Given the description of an element on the screen output the (x, y) to click on. 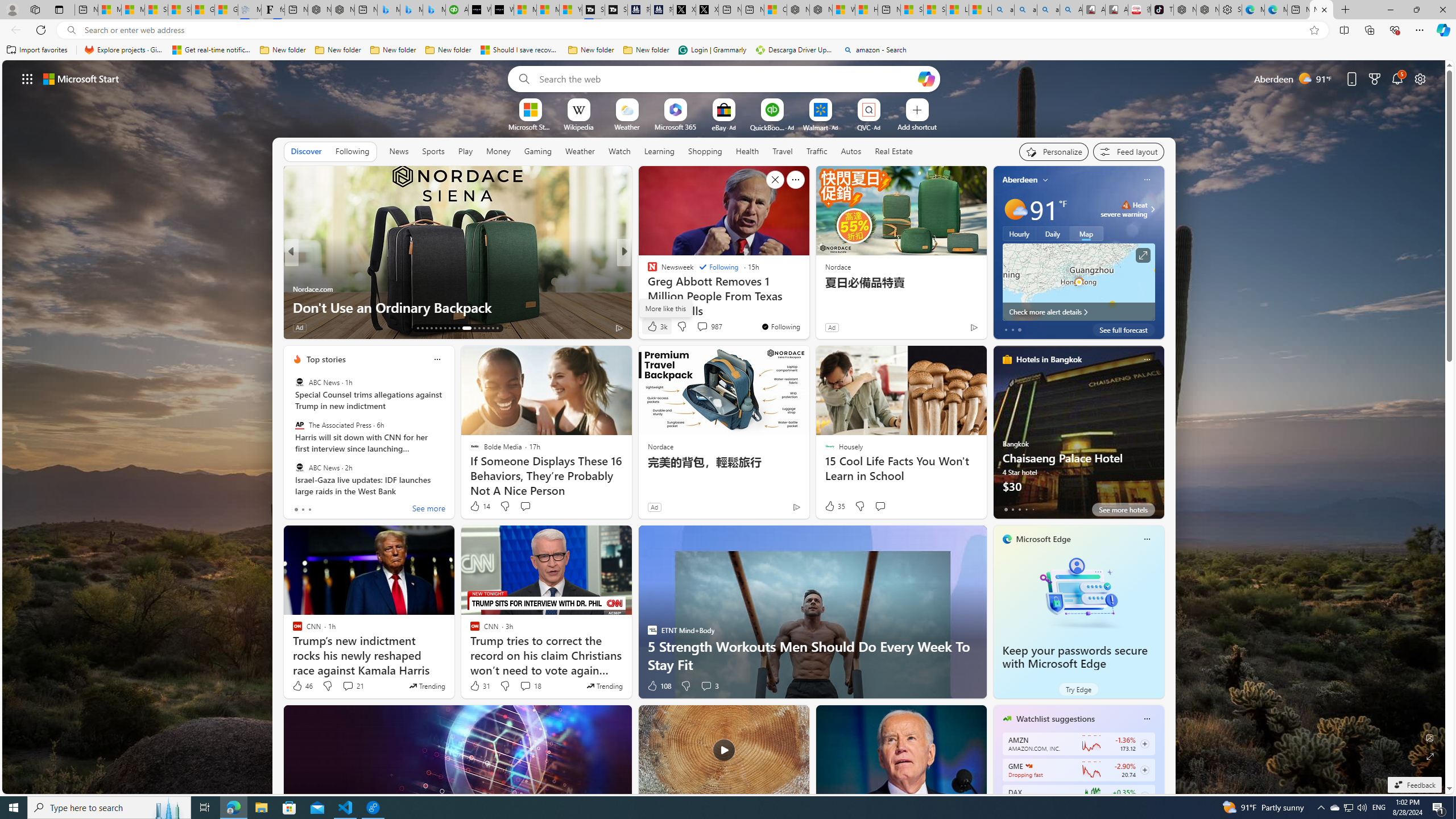
241 Like (654, 327)
See more hotels (1123, 509)
TikTok (1161, 9)
Microsoft Edge (1043, 538)
108 Like (658, 685)
Search icon (70, 29)
View comments 18 Comment (530, 685)
Amazon Echo Robot - Search Images (1071, 9)
Check more alert details (1077, 311)
14 Like (479, 505)
View comments 17 Comment (703, 327)
AutomationID: backgroundImagePicture (723, 426)
View comments 156 Comment (6, 327)
Microsoft 365 (675, 126)
